Given the description of an element on the screen output the (x, y) to click on. 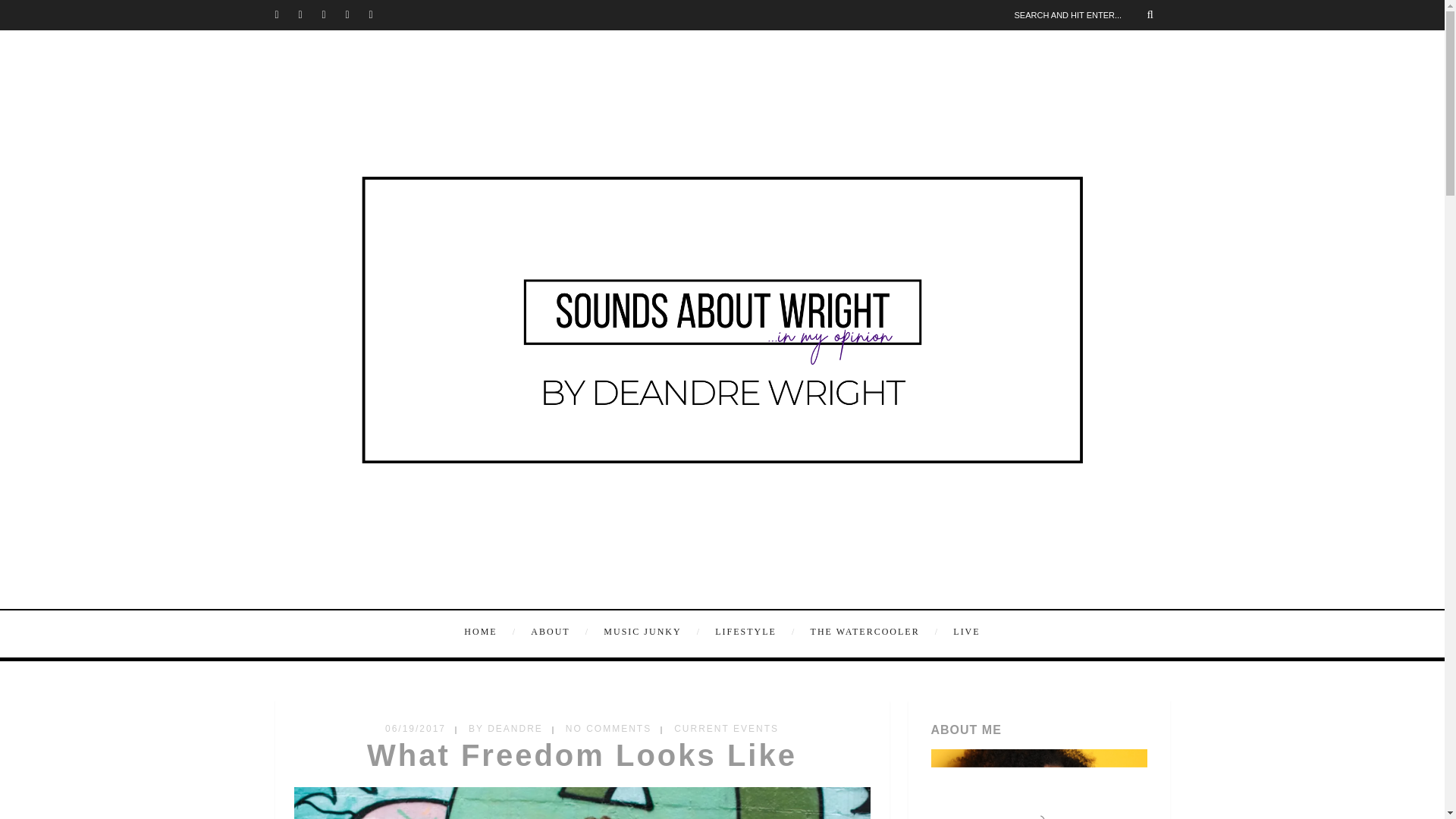
BY DEANDRE (505, 728)
Search and hit enter... (1088, 14)
MUSIC JUNKY (649, 631)
HOME (491, 631)
THE WATERCOOLER (872, 631)
NO COMMENTS (608, 728)
LIFESTYLE (753, 631)
ABOUT (557, 631)
CURRENT EVENTS (726, 728)
